Given the description of an element on the screen output the (x, y) to click on. 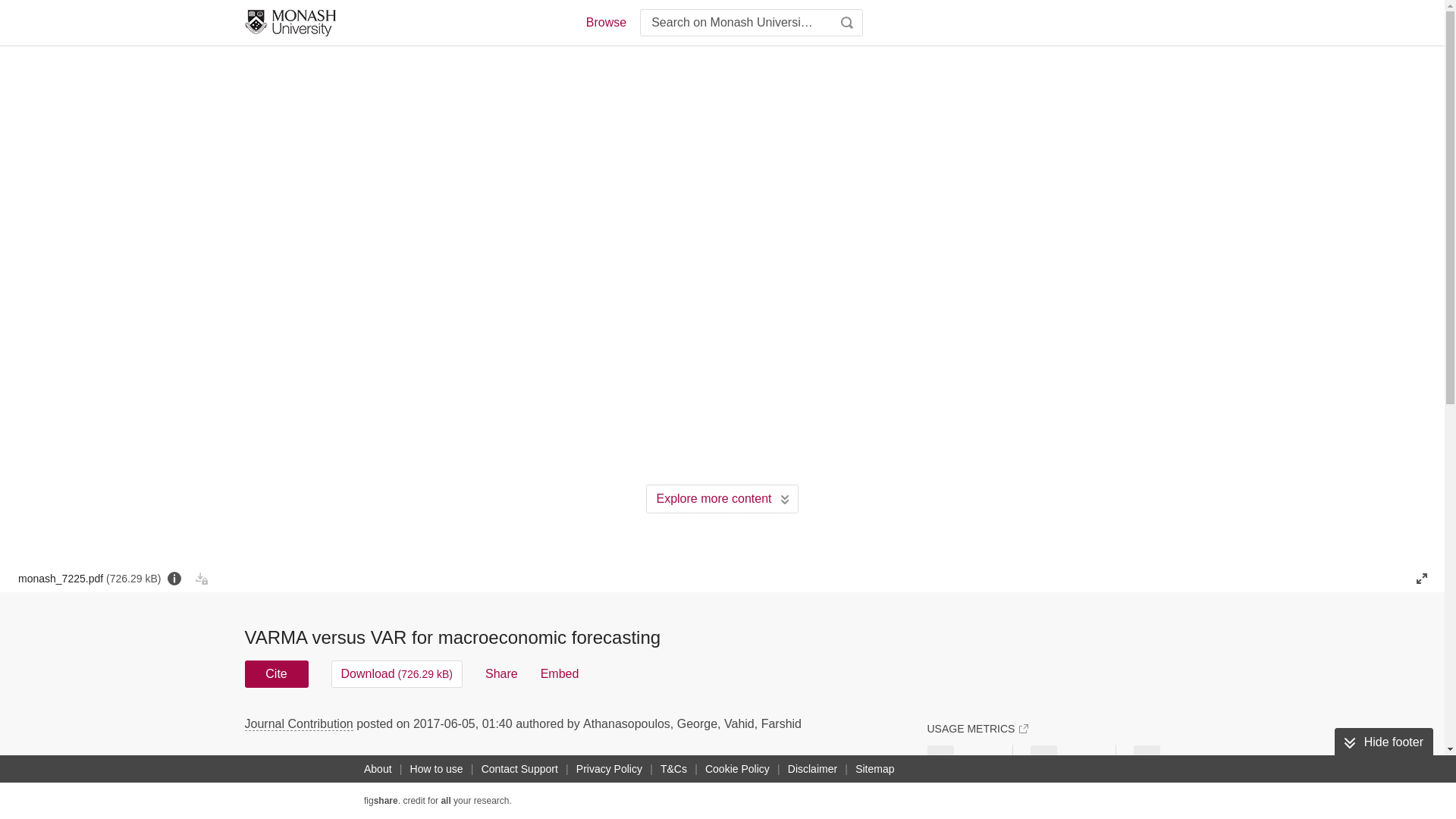
Hide footer (1383, 742)
Cite (275, 673)
Cookie Policy (737, 769)
USAGE METRICS (976, 728)
Contact Support (519, 769)
About (377, 769)
How to use (436, 769)
Disclaimer (812, 769)
Privacy Policy (609, 769)
Explore more content (721, 498)
Share (501, 673)
Sitemap (874, 769)
Embed (559, 673)
Browse (605, 22)
